Given the description of an element on the screen output the (x, y) to click on. 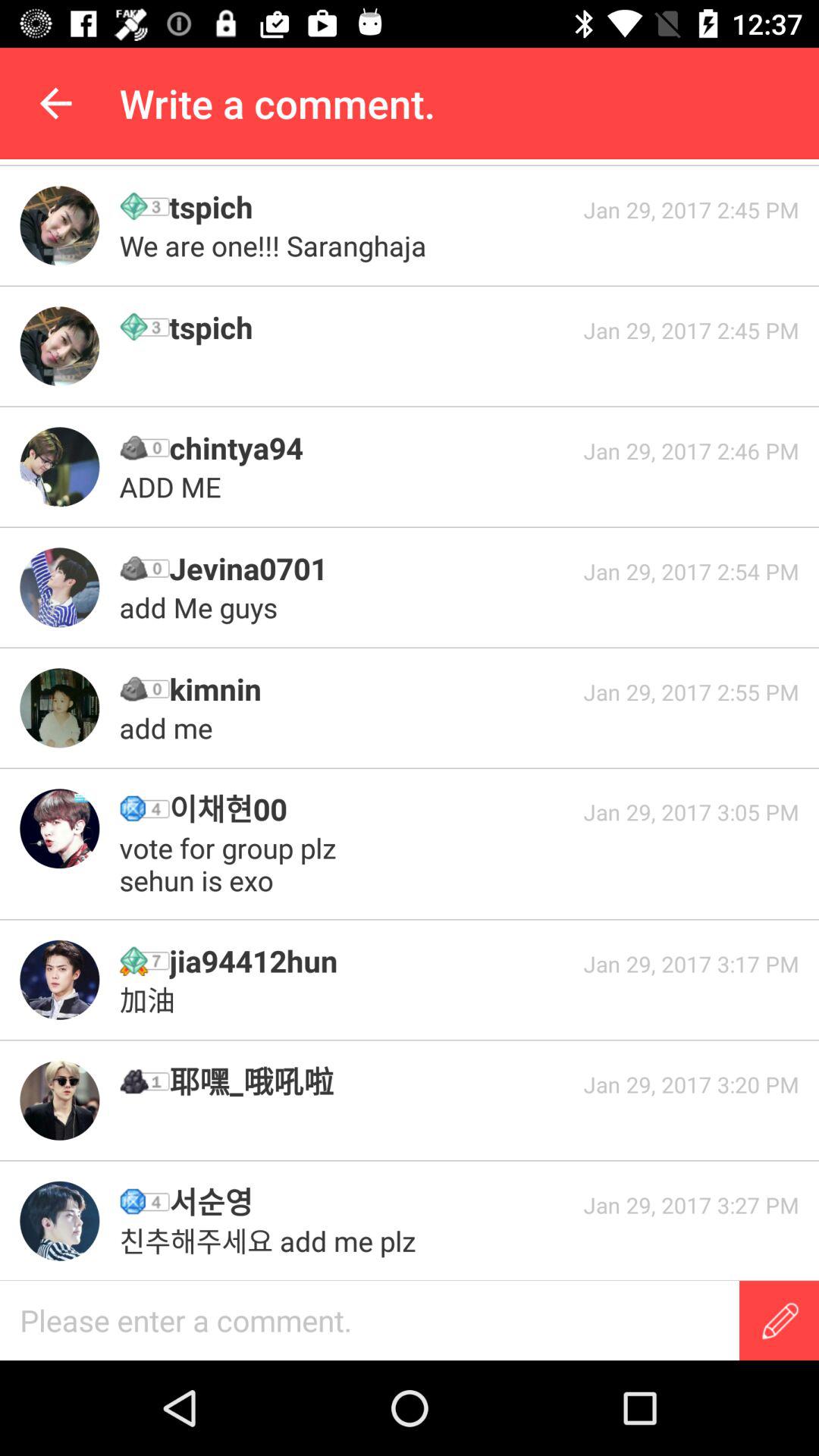
compose comment (779, 1320)
